Given the description of an element on the screen output the (x, y) to click on. 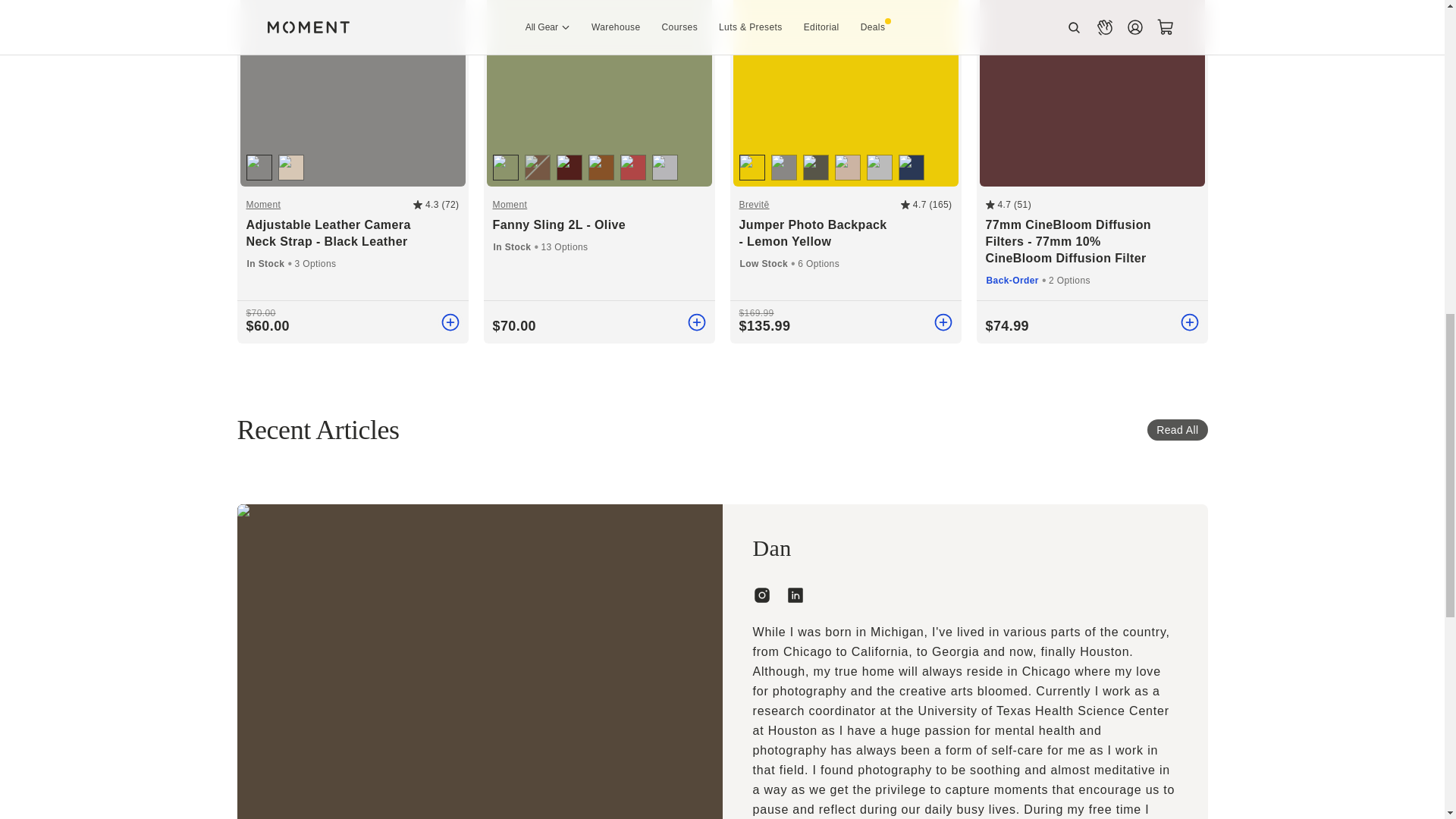
View product details (764, 326)
Moment (329, 204)
View all articles (1177, 429)
Moment (599, 204)
View product details (267, 326)
Fanny Sling 2L - Olive (599, 225)
Go to daniel-chung-b14aa5a1 (794, 595)
View product details (514, 326)
Adjustable Leather Camera Neck Strap - Black Leather (352, 233)
View product details (1007, 326)
